Given the description of an element on the screen output the (x, y) to click on. 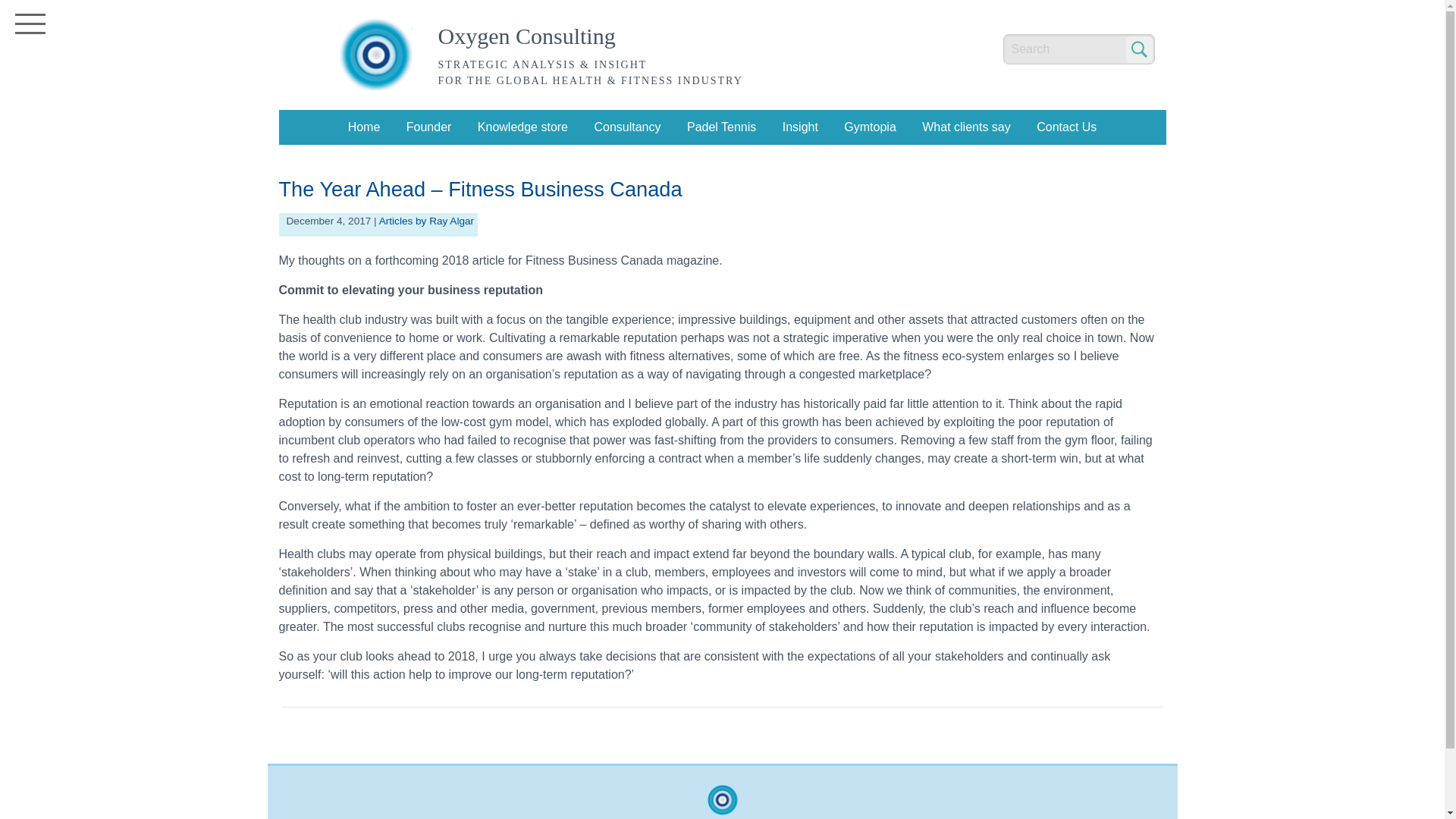
Home (363, 127)
Contact Us (1066, 127)
Knowledge store (522, 127)
Consultancy (627, 127)
What clients say (965, 127)
Articles by Ray Algar (426, 220)
Go (1138, 49)
Insight (800, 127)
Founder (428, 127)
Padel Tennis (721, 127)
Gymtopia (869, 127)
